Given the description of an element on the screen output the (x, y) to click on. 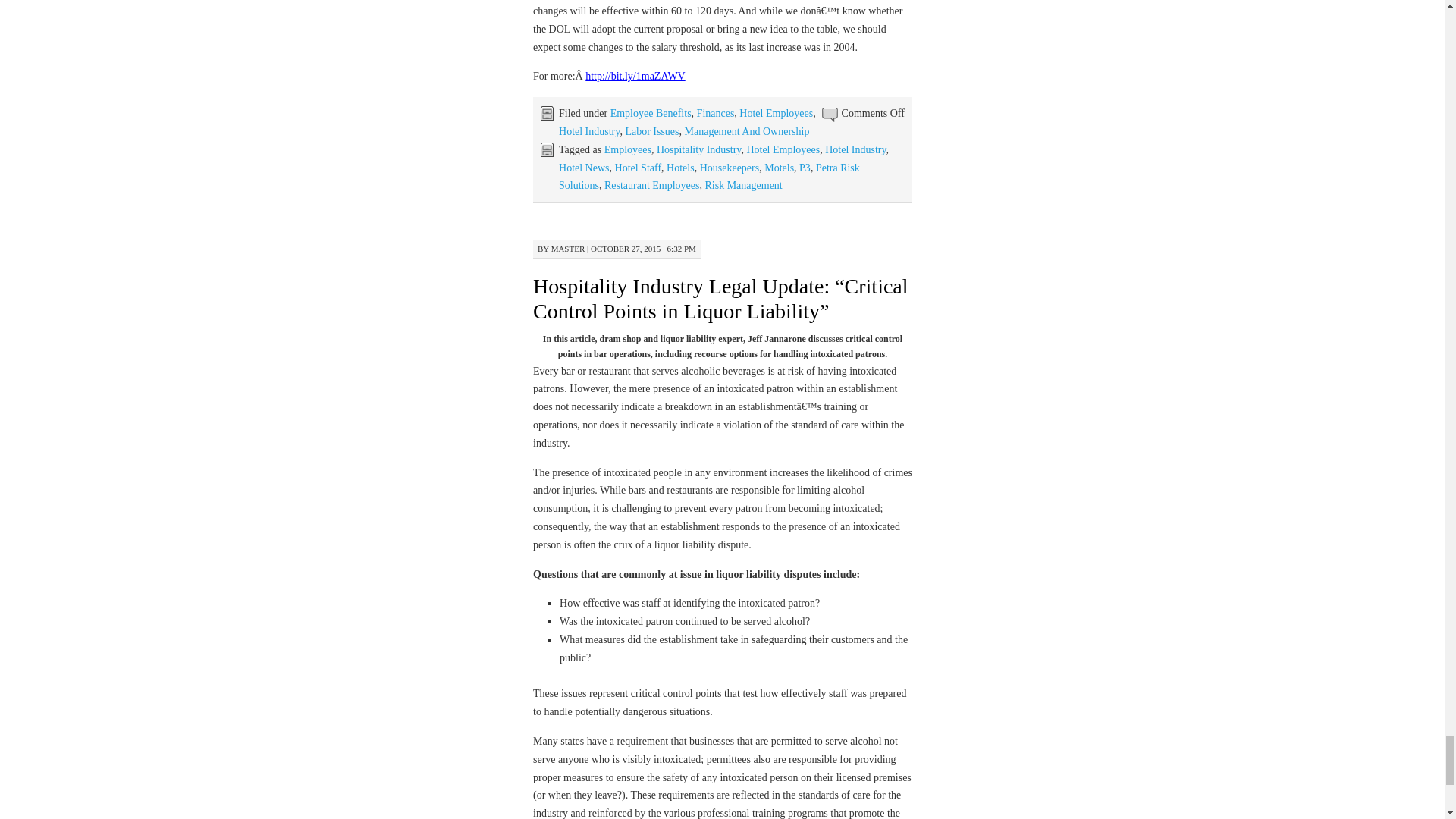
View all posts by master (568, 248)
